Given the description of an element on the screen output the (x, y) to click on. 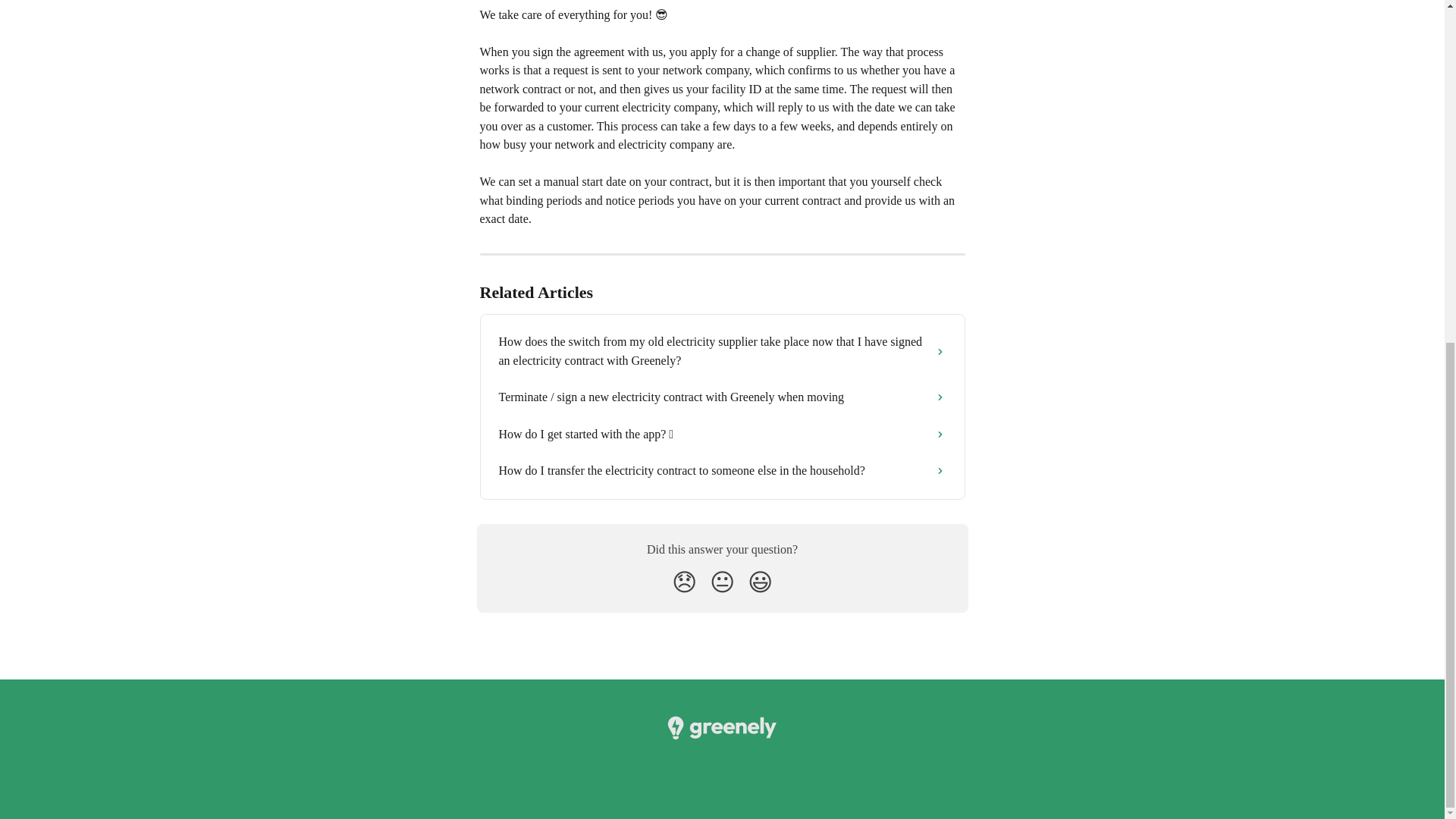
Disappointed (684, 582)
Smiley (760, 582)
Neutral (722, 582)
